Given the description of an element on the screen output the (x, y) to click on. 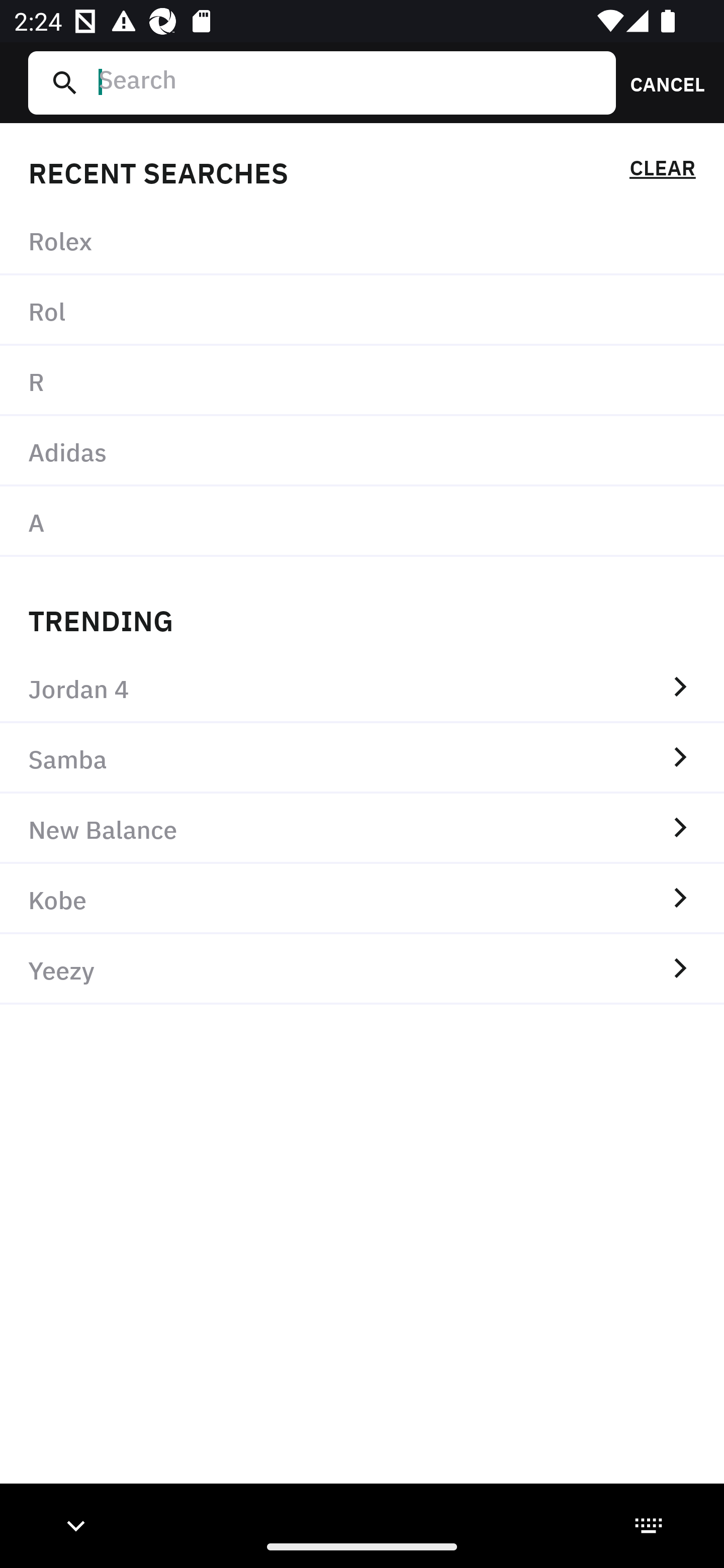
CANCEL (660, 82)
Search (349, 82)
CLEAR (662, 170)
Rolex (362, 240)
Rol (362, 310)
R (362, 380)
Adidas (362, 450)
A (362, 521)
Jordan 4  (362, 687)
Samba  (362, 757)
New Balance  (362, 828)
Kobe  (362, 898)
Yeezy  (362, 969)
